Given the description of an element on the screen output the (x, y) to click on. 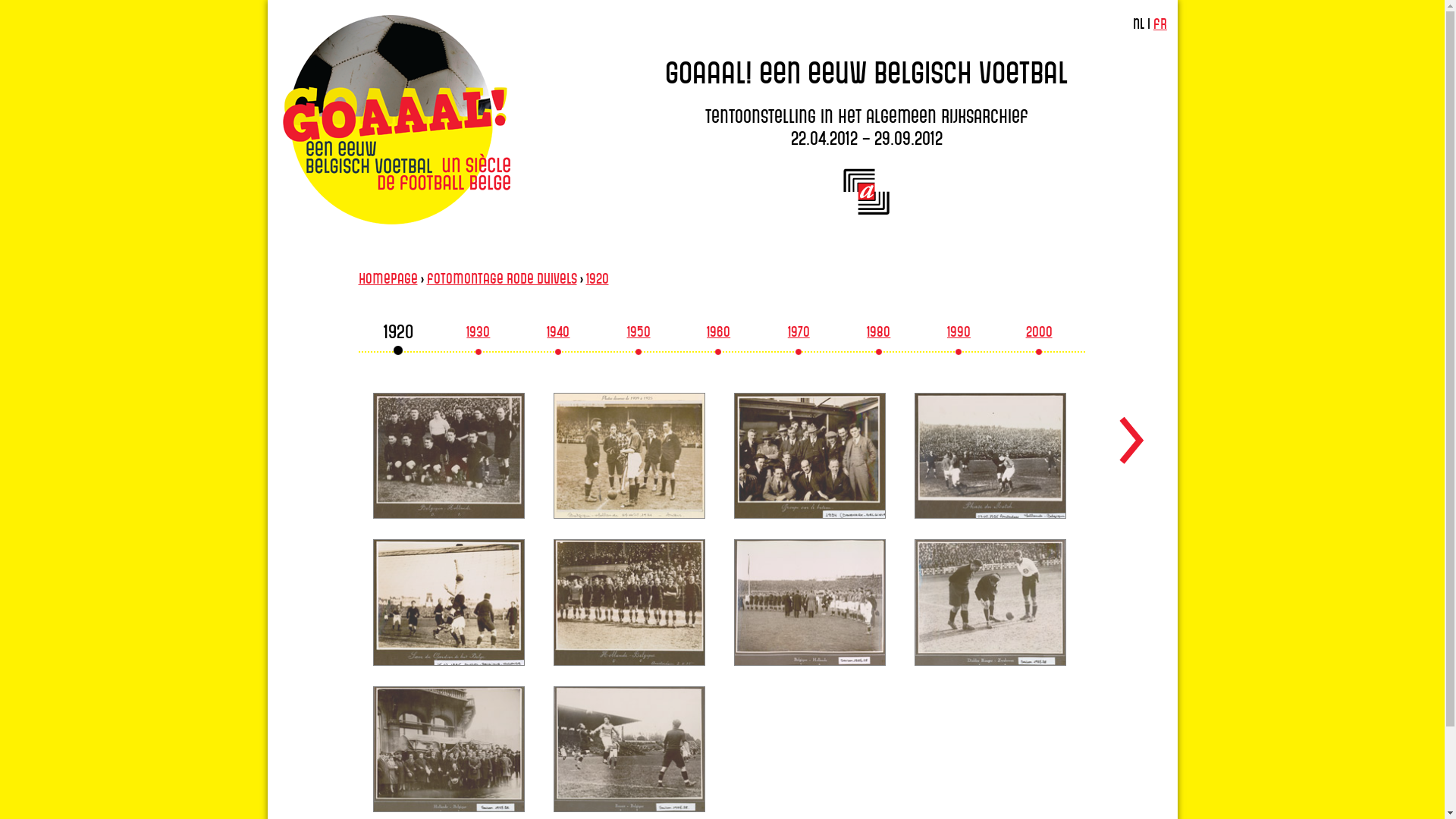
Fotomontage Rode Duivels Element type: text (501, 277)
1940 Element type: text (557, 335)
1950 Element type: text (638, 335)
1960 Element type: text (718, 335)
1920 Element type: text (398, 335)
1970 Element type: text (798, 335)
1980 Element type: text (878, 335)
  Element type: text (1130, 428)
Homepage Element type: text (387, 277)
1930 Element type: text (477, 335)
1920 Element type: text (596, 277)
FR Element type: text (1160, 23)
2000 Element type: text (1039, 335)
1990 Element type: text (958, 335)
NL Element type: text (1138, 23)
